Given the description of an element on the screen output the (x, y) to click on. 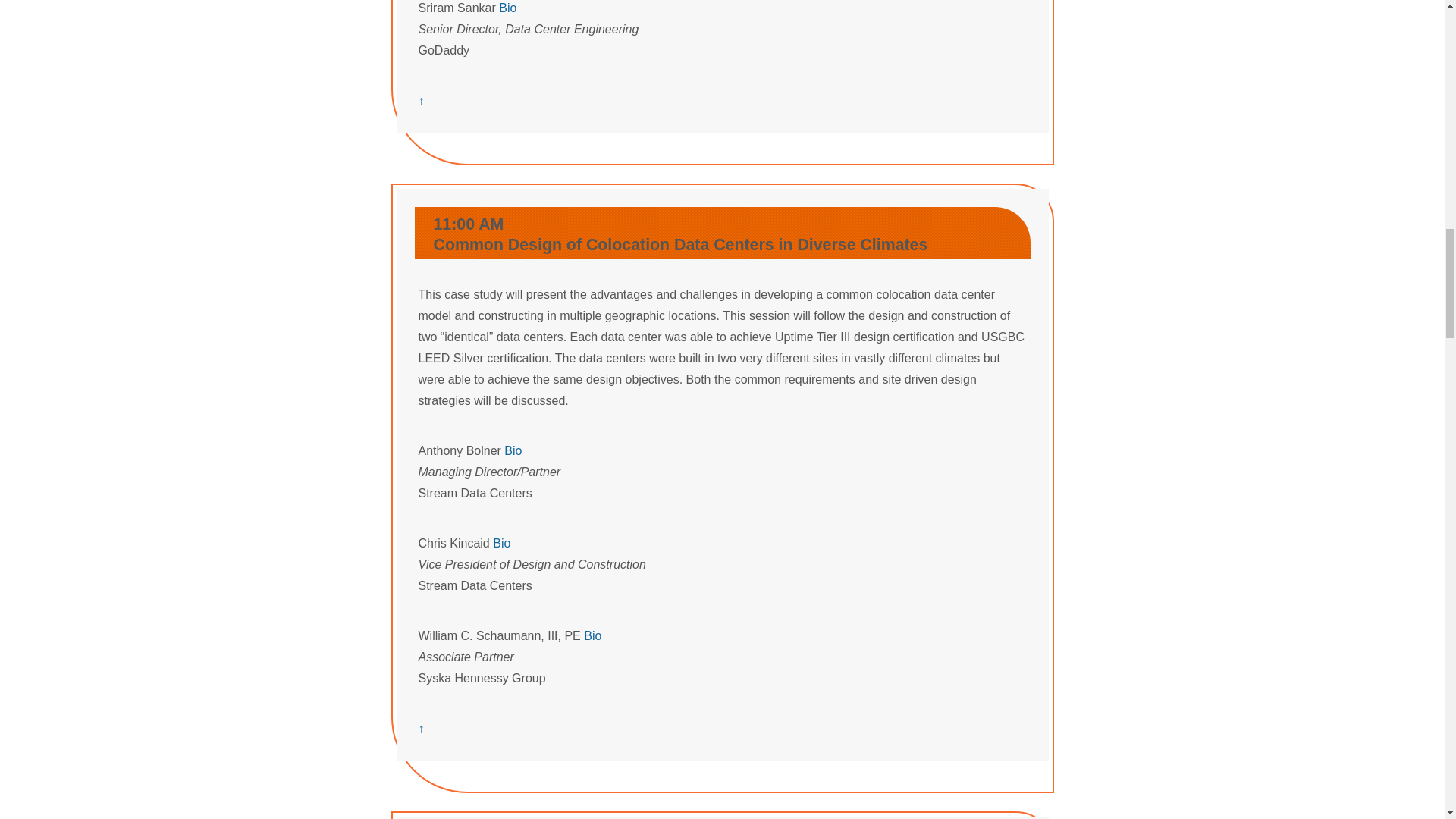
Bio (502, 543)
Bio (507, 7)
Bio (512, 450)
Bio (592, 635)
